Given the description of an element on the screen output the (x, y) to click on. 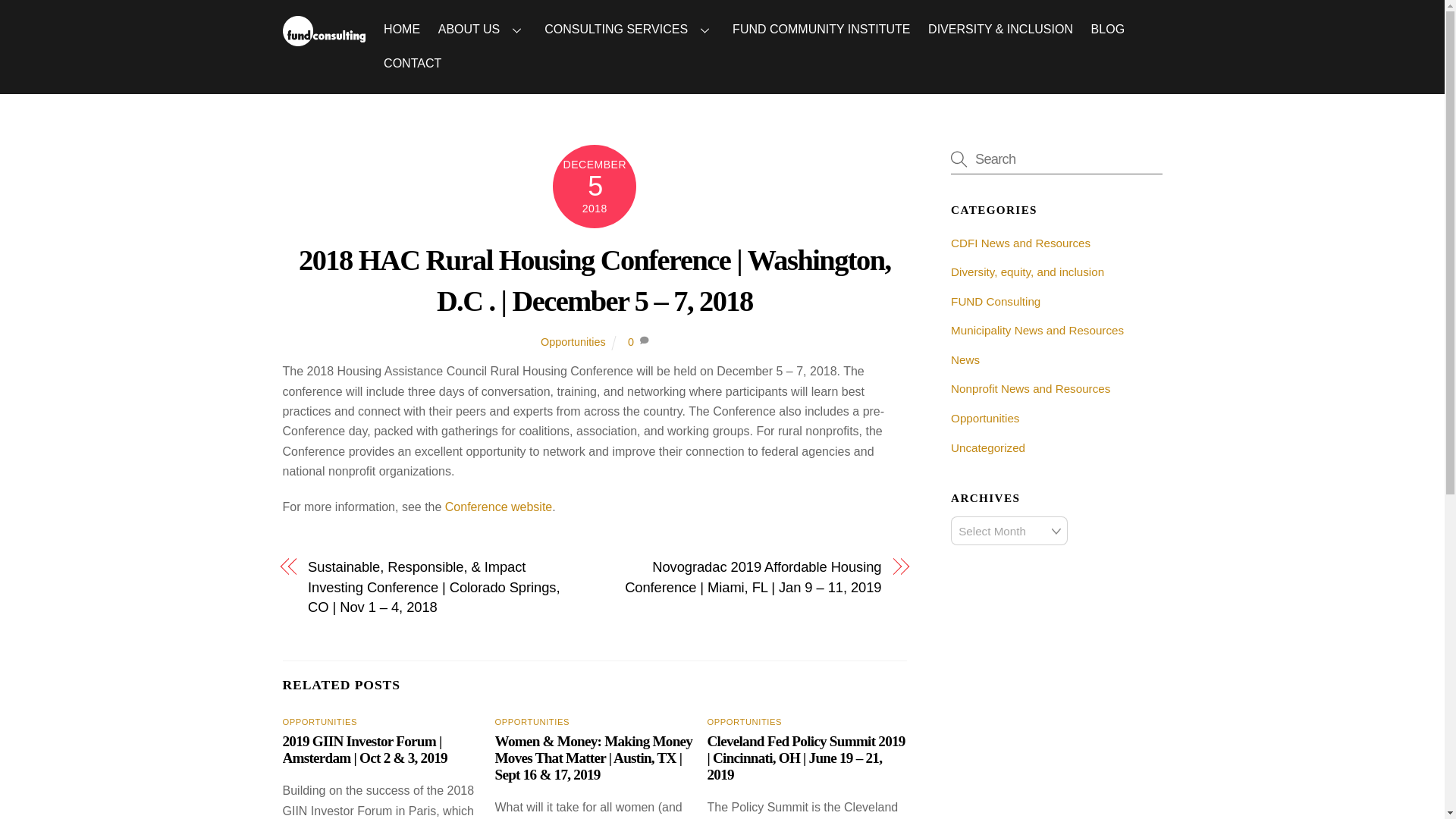
Municipality News and Resources (1037, 329)
FUND Consulting (323, 38)
CDFI News and Resources (1020, 242)
Opportunities (572, 341)
CONSULTING SERVICES (629, 29)
CONTACT (411, 63)
Conference website (498, 506)
Diversity, equity, and inclusion (1026, 271)
FUND Consulting (995, 300)
ABOUT US (482, 29)
Search (1055, 158)
OPPORTUNITIES (532, 721)
News (964, 359)
FUND COMMUNITY INSTITUTE (821, 29)
HOME (400, 29)
